Given the description of an element on the screen output the (x, y) to click on. 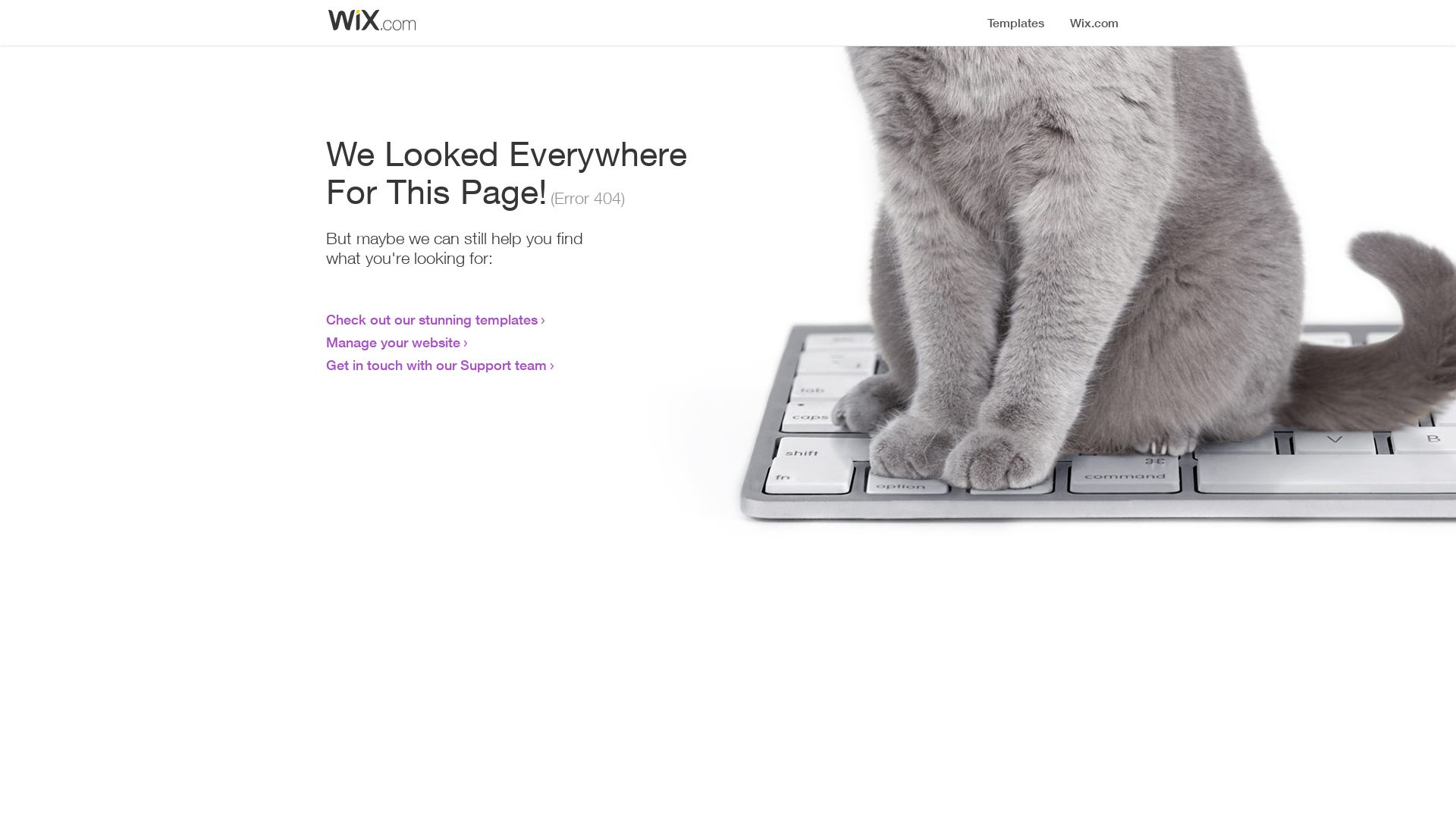
Get in touch with our Support team Element type: text (436, 364)
Manage your website Element type: text (393, 341)
Check out our stunning templates Element type: text (431, 318)
